Given the description of an element on the screen output the (x, y) to click on. 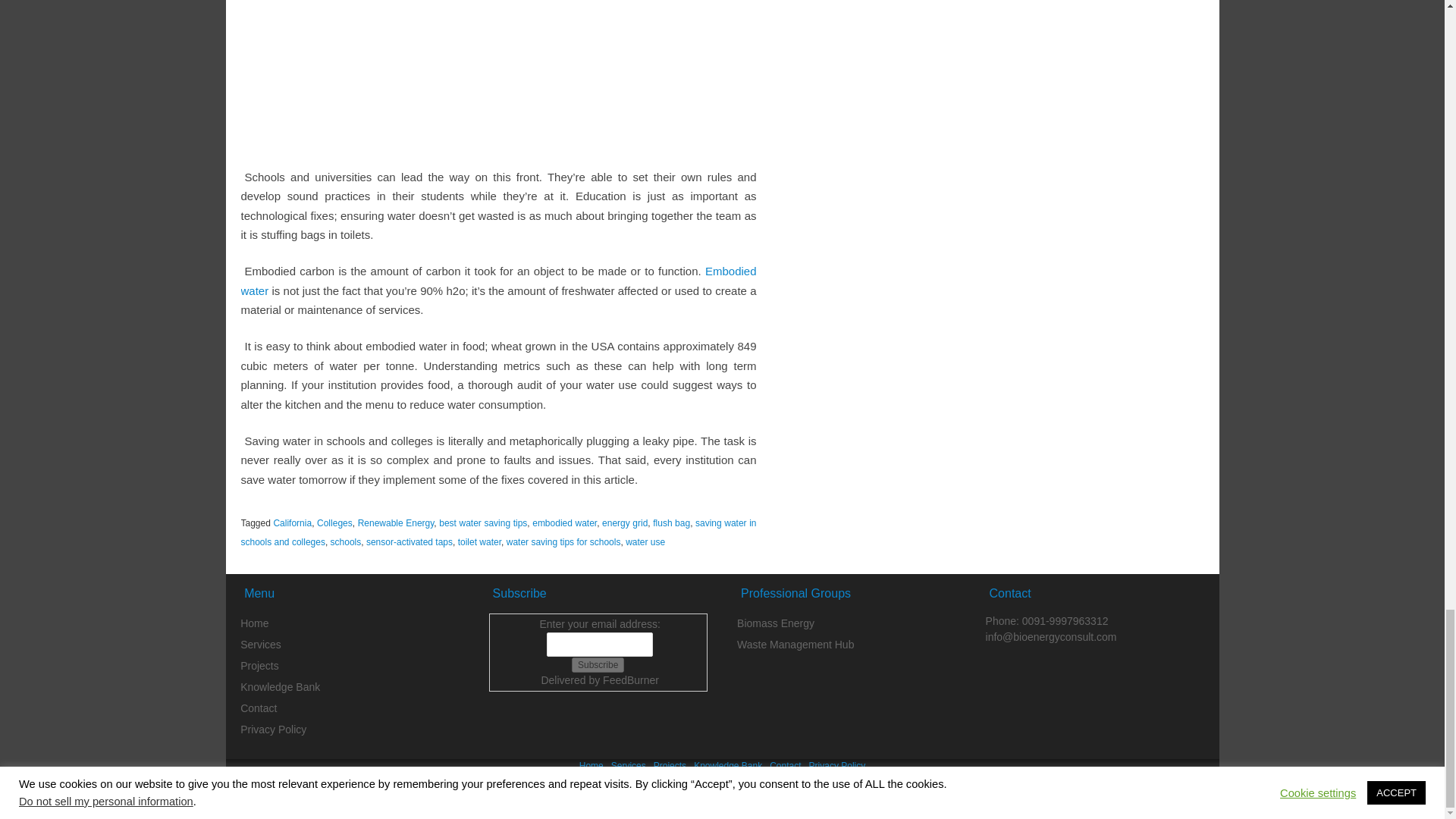
saving water in schools and colleges (499, 532)
flush bag (671, 522)
Embodied water (499, 280)
embodied water (564, 522)
California (292, 522)
Renewable Energy (395, 522)
sensor-activated taps (409, 542)
best water saving tips (483, 522)
schools (345, 542)
energy grid (624, 522)
